Given the description of an element on the screen output the (x, y) to click on. 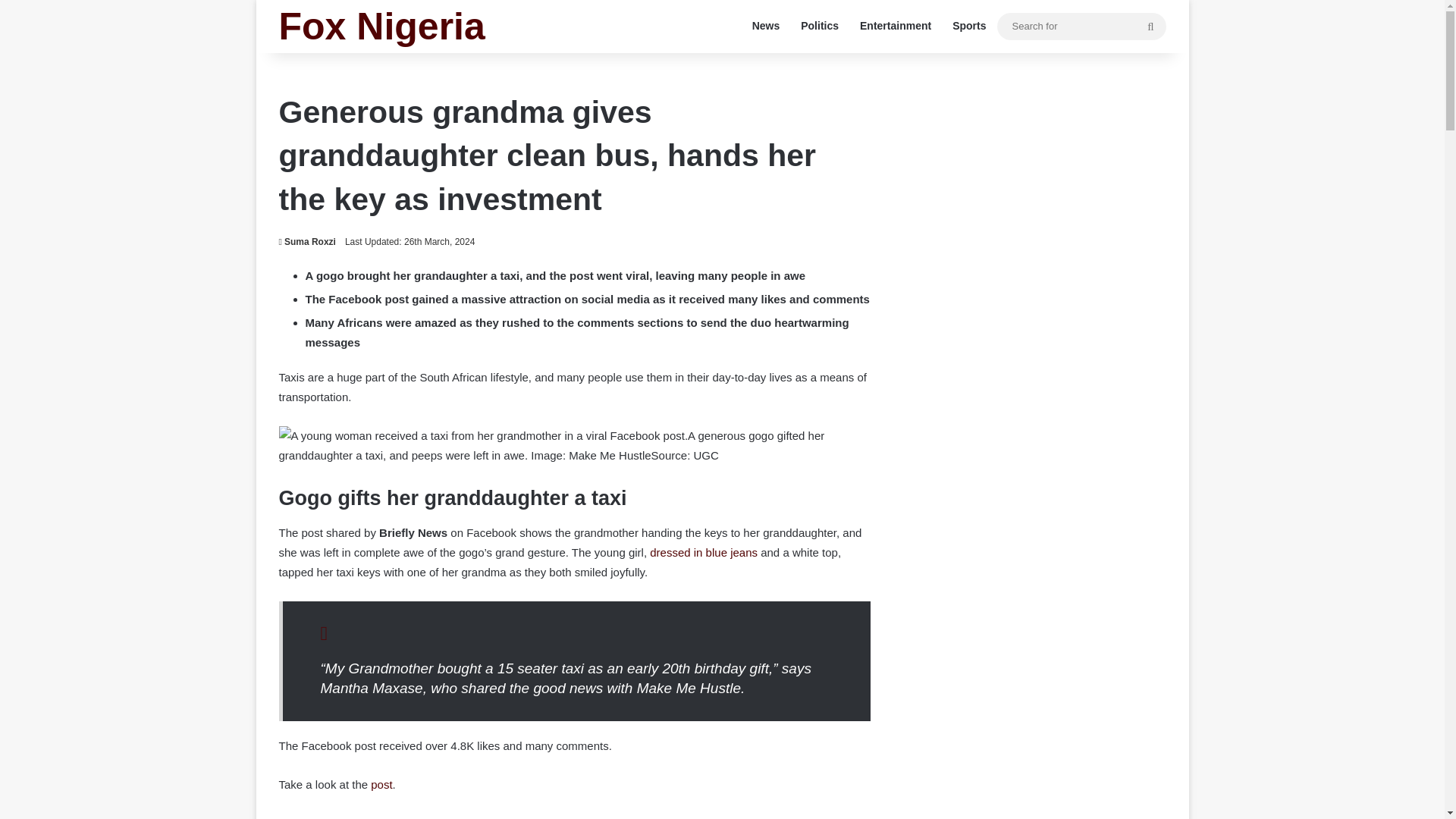
Sports (968, 26)
Suma Roxzi (307, 241)
Search for (1080, 25)
Suma Roxzi (307, 241)
Search for (1150, 25)
News (765, 26)
Fox Nigeria (381, 26)
dressed in blue jeans (703, 552)
Entertainment (895, 26)
post (381, 784)
